Given the description of an element on the screen output the (x, y) to click on. 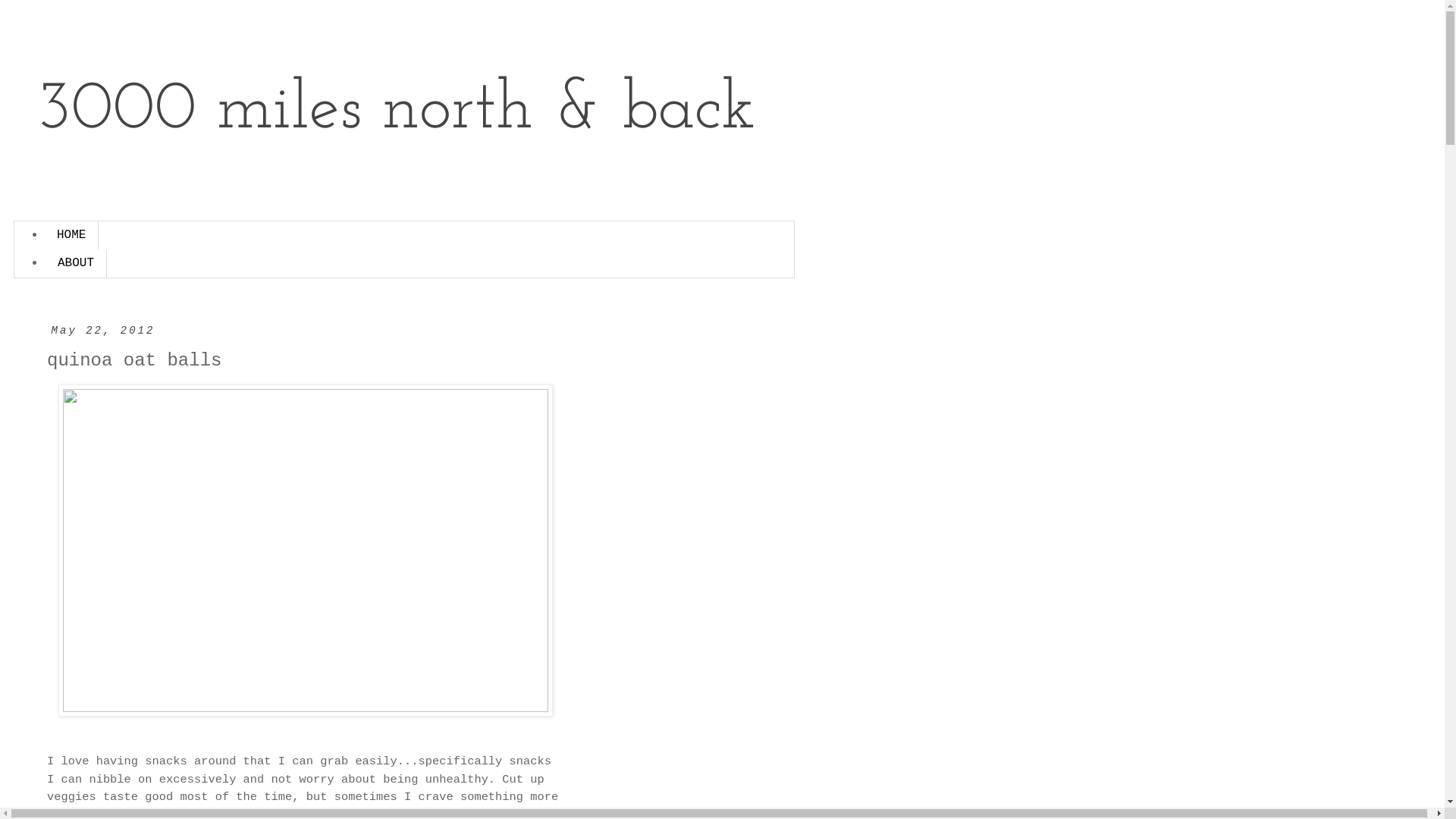
HOME Element type: text (71, 235)
ABOUT Element type: text (75, 263)
3000 miles north & back Element type: text (395, 109)
